Given the description of an element on the screen output the (x, y) to click on. 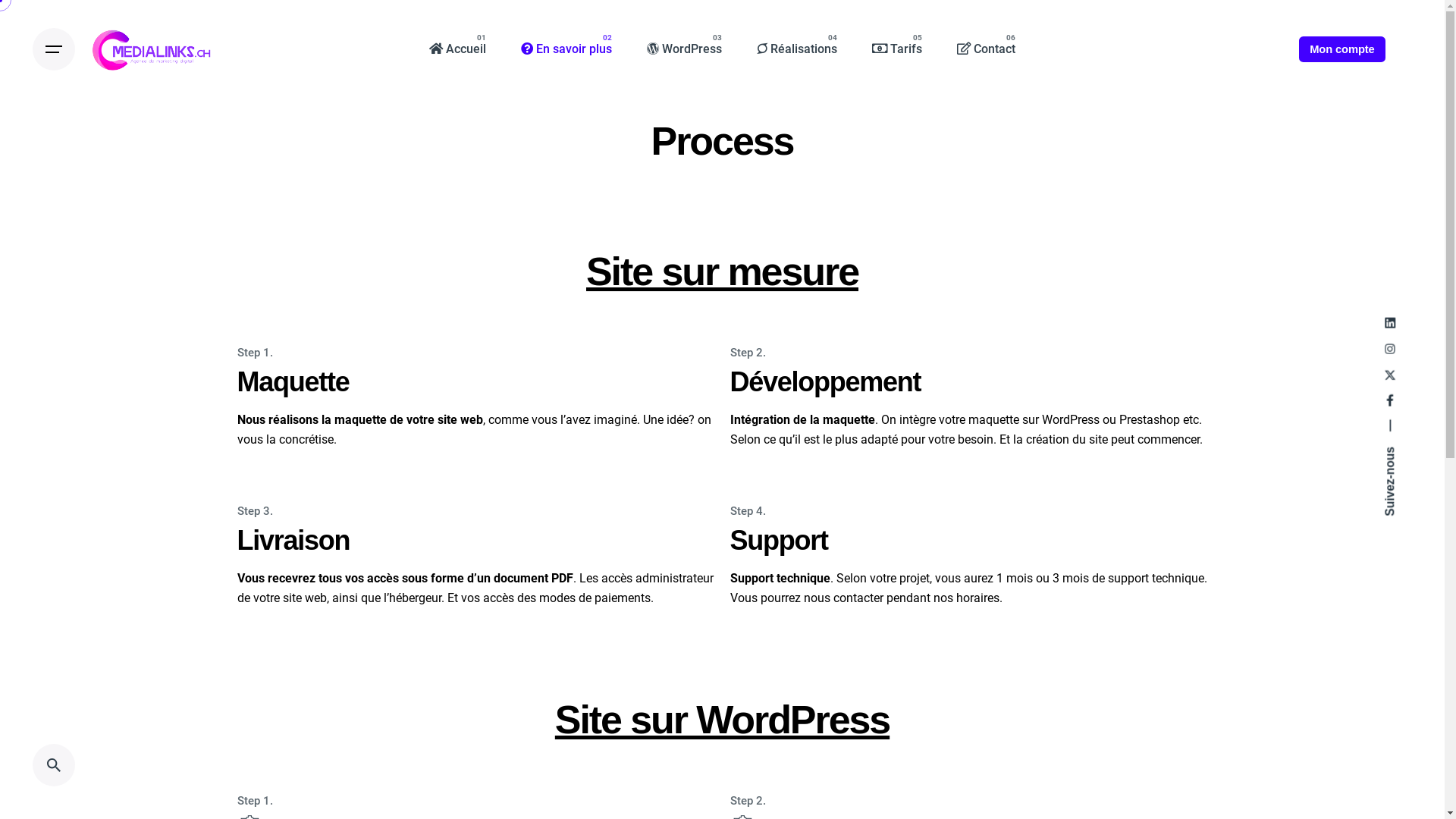
Mon compte Element type: text (1341, 49)
WordPress Element type: text (684, 48)
Contact Element type: text (985, 48)
En savoir plus Element type: text (566, 48)
Tarifs Element type: text (896, 48)
Accueil Element type: text (457, 48)
